Given the description of an element on the screen output the (x, y) to click on. 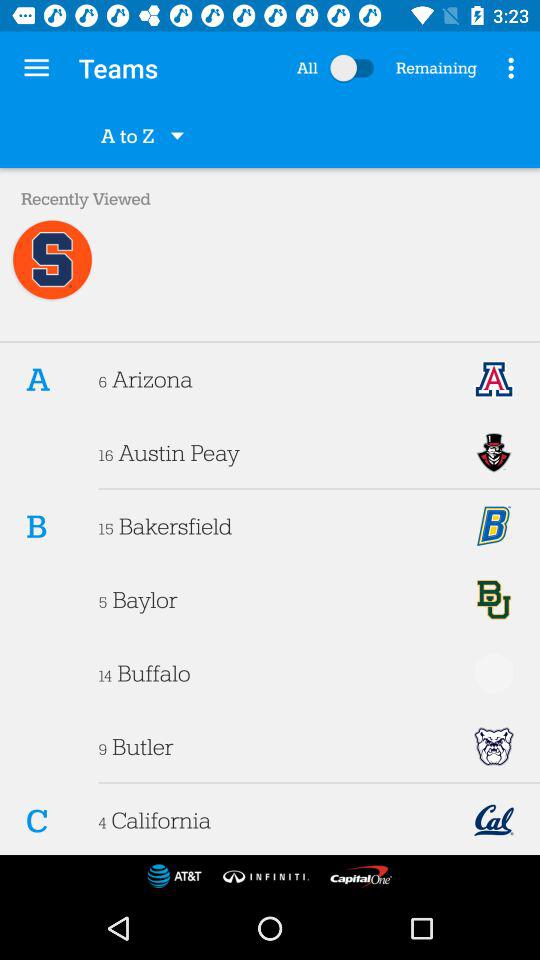
toggle all (356, 67)
